Given the description of an element on the screen output the (x, y) to click on. 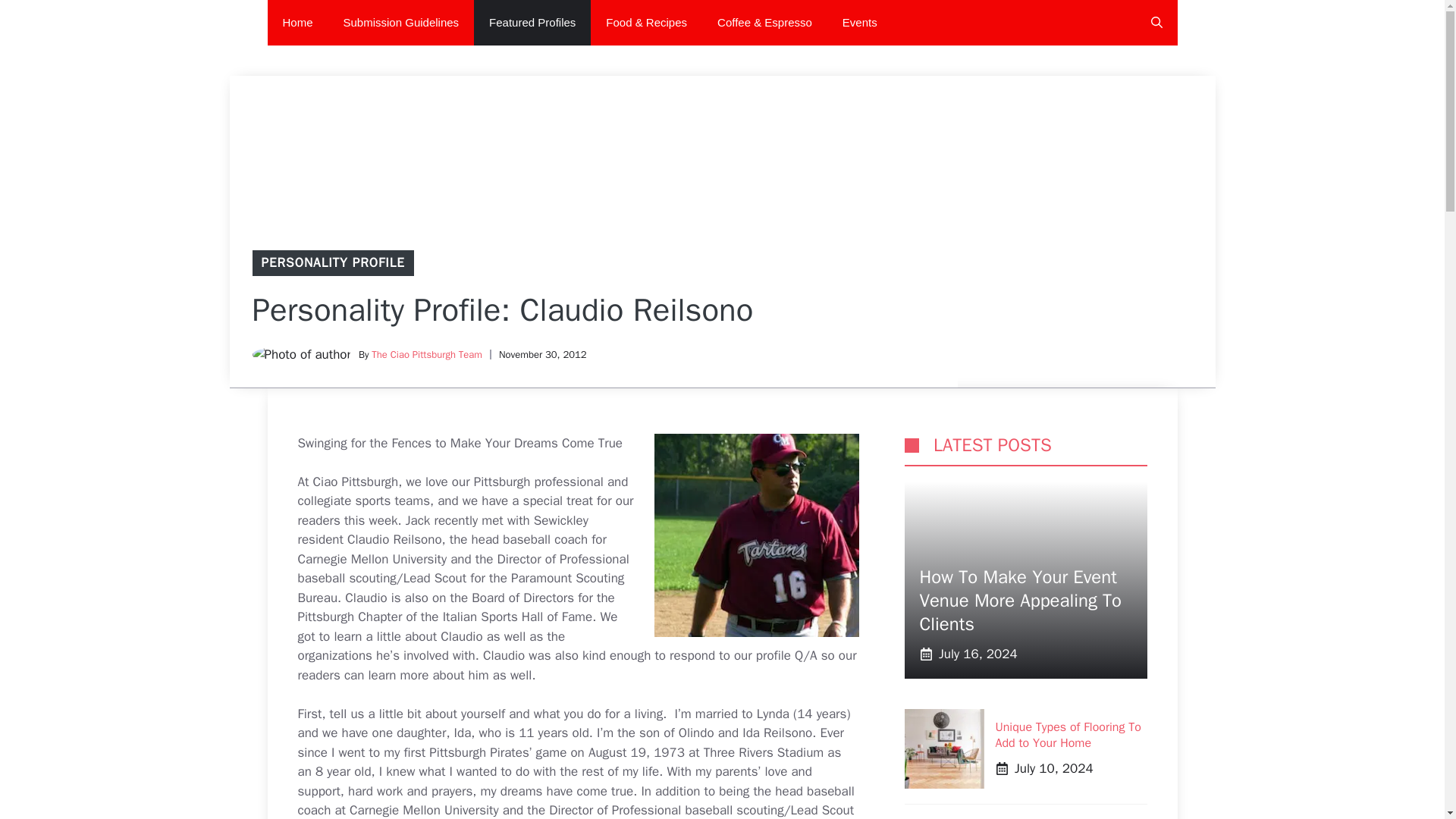
The Ciao Pittsburgh Team (426, 354)
How To Make Your Event Venue More Appealing To Clients (1019, 600)
CMU (756, 535)
Events (859, 22)
Submission Guidelines (401, 22)
Featured Profiles (532, 22)
PERSONALITY PROFILE (332, 262)
Unique Types of Flooring To Add to Your Home (1067, 735)
SORRY, YOUR BROWSER DOES NOT SUPPORT INLINE SVG. (911, 445)
Home (296, 22)
